Given the description of an element on the screen output the (x, y) to click on. 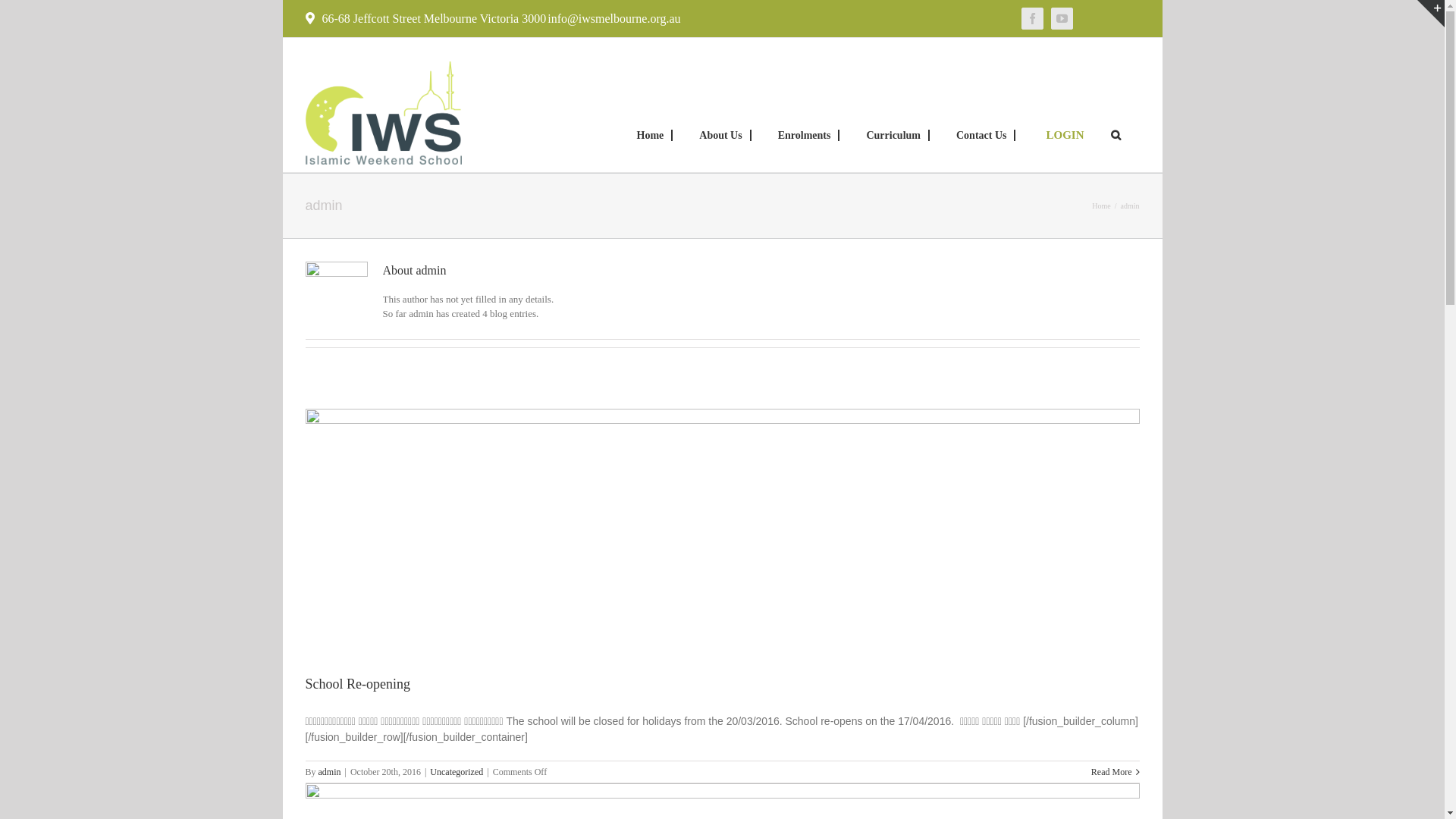
Home Element type: text (1101, 205)
Toggle Sliding Bar Area Element type: text (1430, 13)
Read More Element type: text (1111, 771)
admin Element type: text (329, 771)
Contact Us Element type: text (982, 123)
Search Element type: hover (1115, 123)
School Re-opening Element type: text (356, 683)
Curriculum Element type: text (893, 123)
Facebook Element type: text (1032, 18)
YouTube Element type: text (1062, 18)
info@iwsmelbourne.org.au Element type: text (612, 18)
About Us Element type: text (720, 123)
Enrolments Element type: text (805, 123)
LOGIN Element type: text (1064, 123)
Uncategorized Element type: text (456, 771)
Home Element type: text (651, 123)
